Given the description of an element on the screen output the (x, y) to click on. 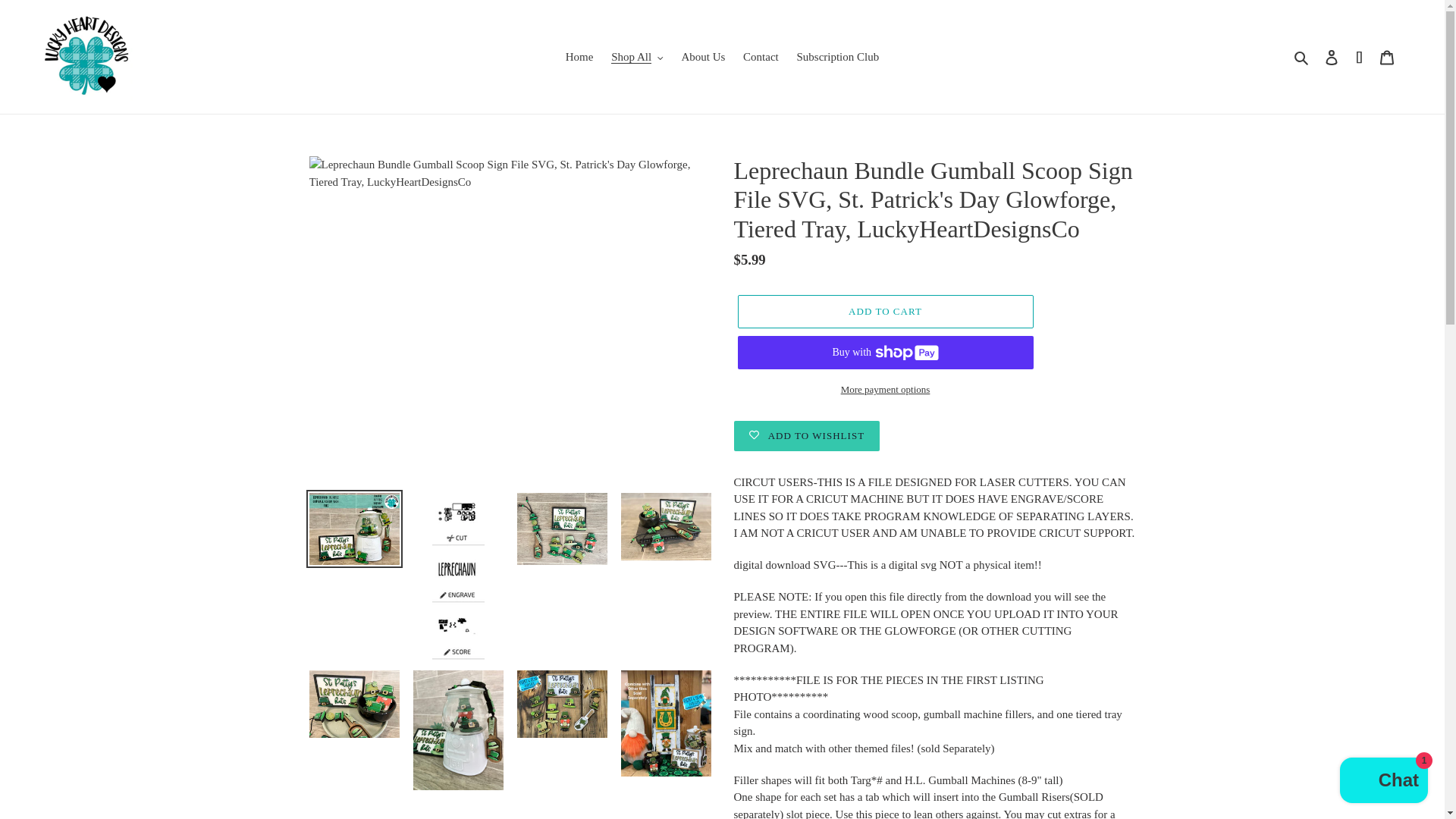
Shopify online store chat (1383, 781)
Shop All (636, 56)
Home (579, 56)
